Given the description of an element on the screen output the (x, y) to click on. 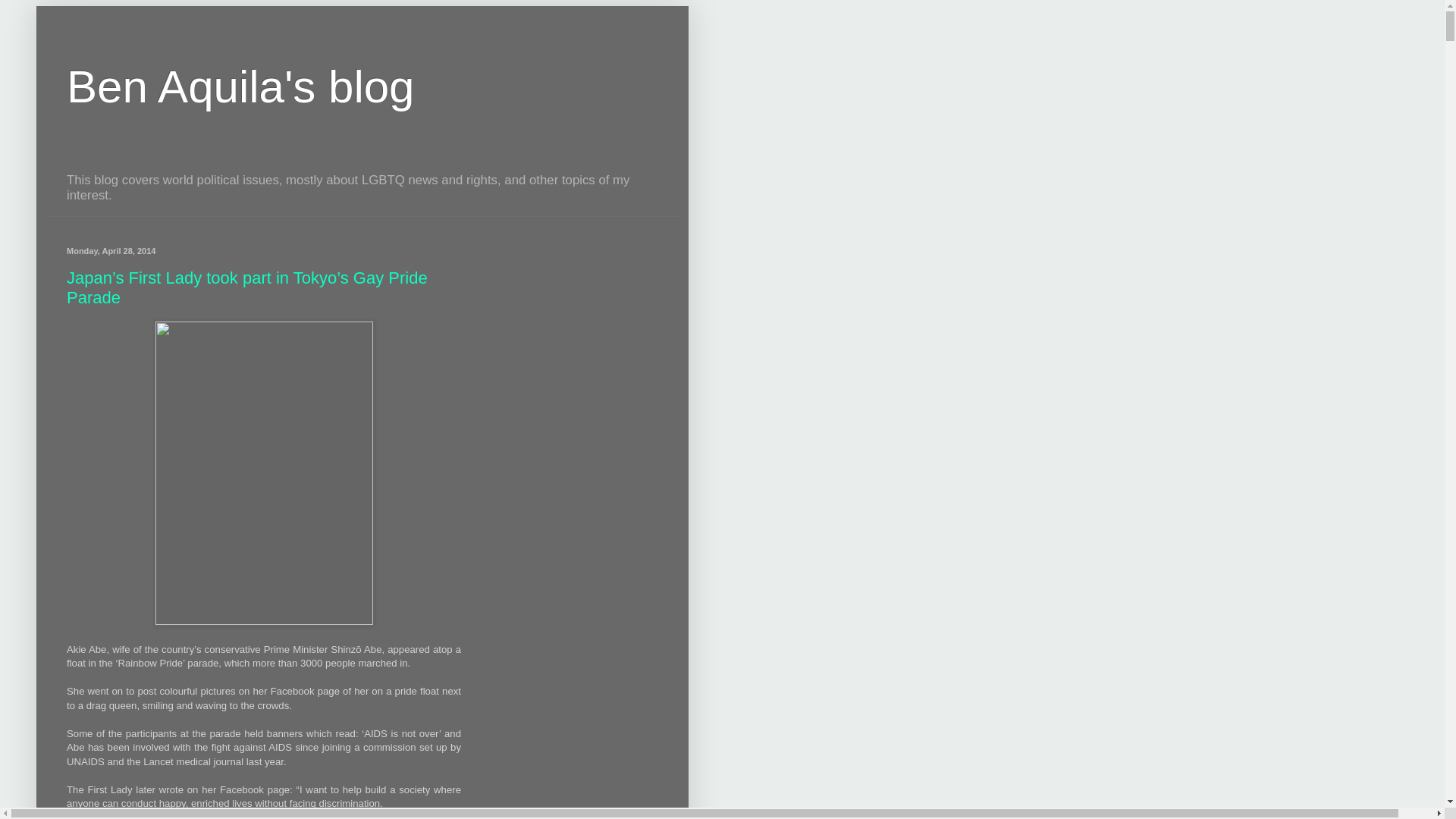
Ben Aquila's blog (239, 86)
